Given the description of an element on the screen output the (x, y) to click on. 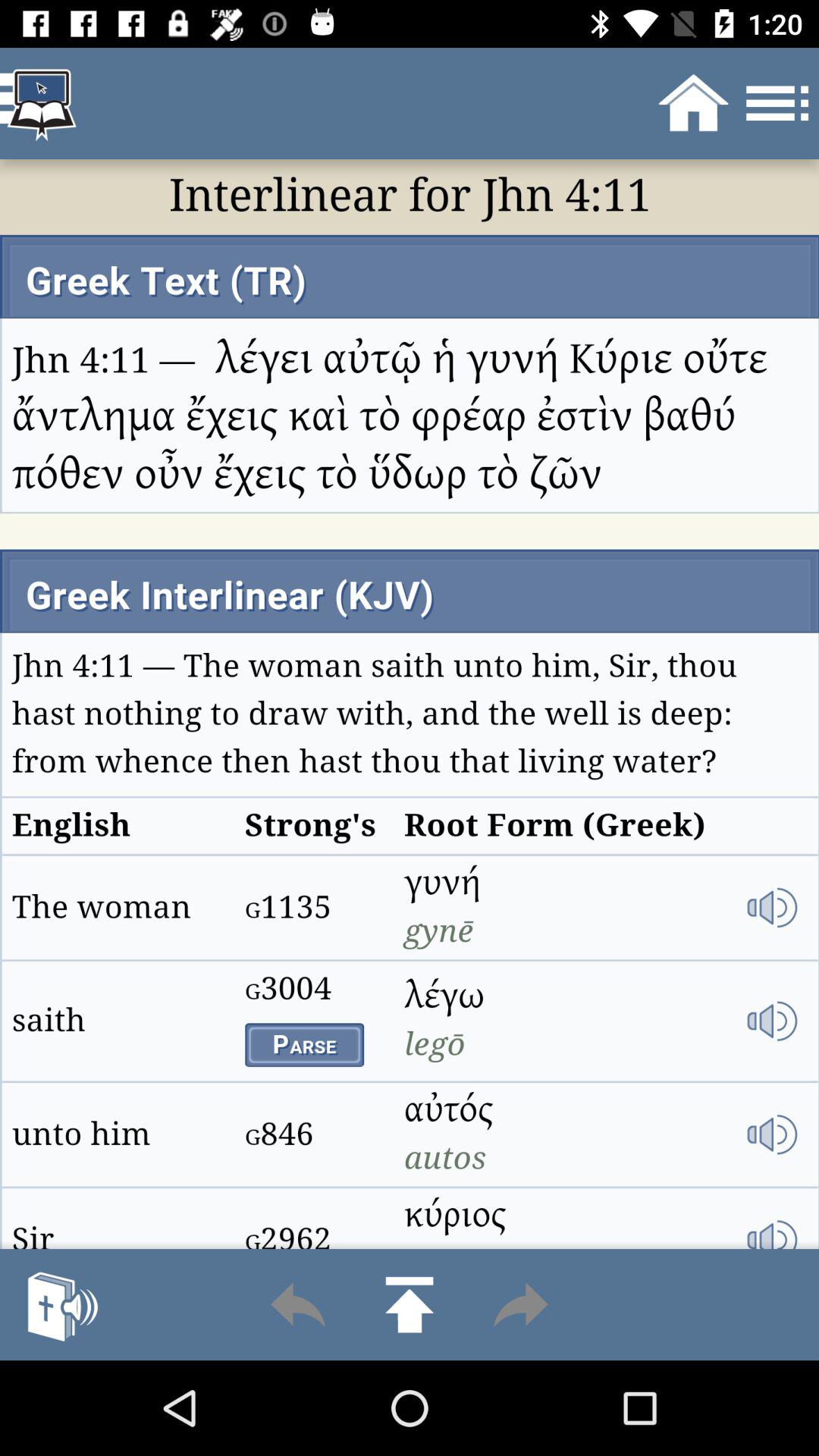
shows download option (409, 1304)
